Given the description of an element on the screen output the (x, y) to click on. 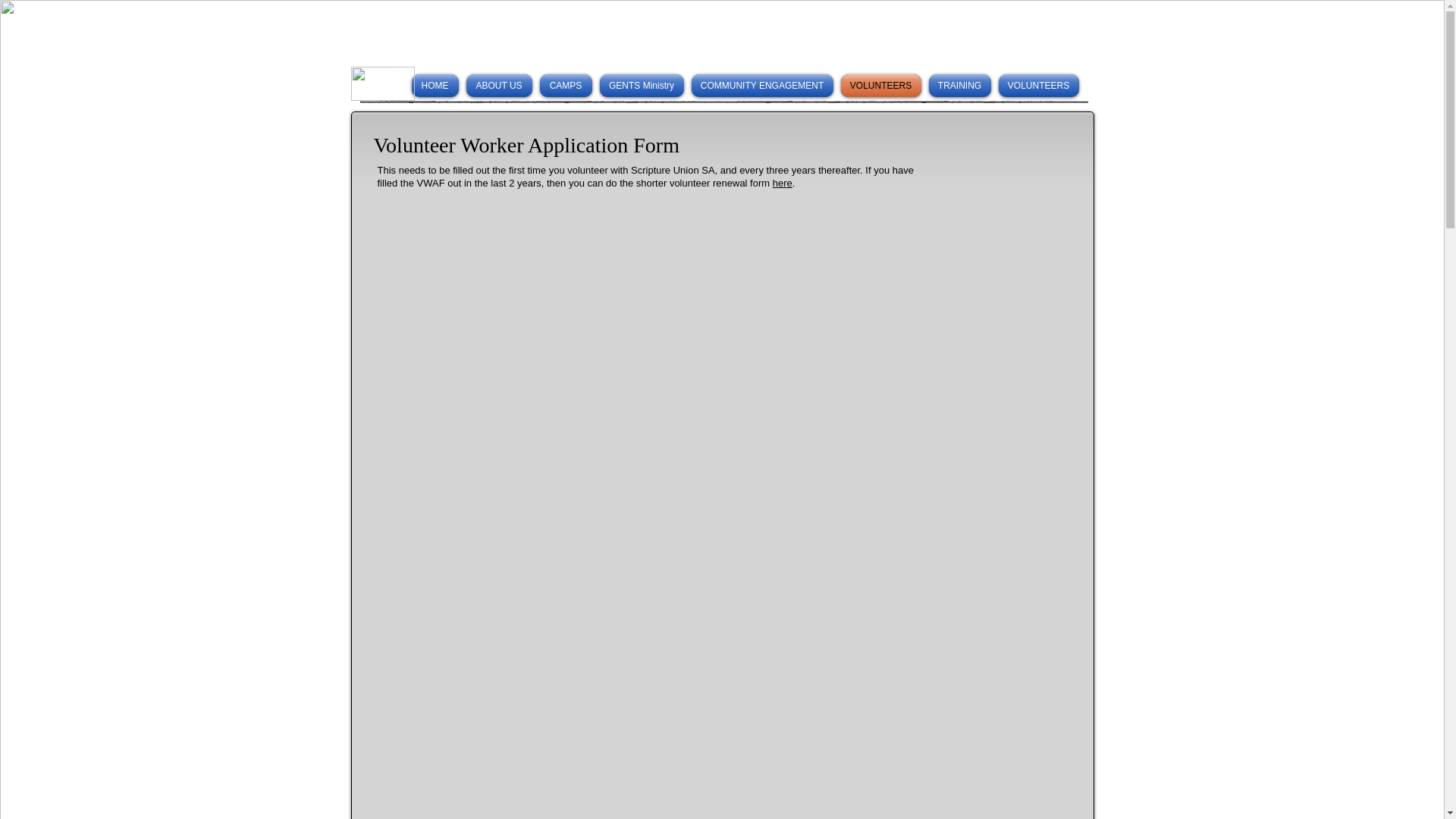
COMMUNITY ENGAGEMENT (761, 85)
TRAINING (959, 85)
Webmaster Login (864, 54)
CAMPS (565, 85)
GENTS Ministry (641, 85)
here (782, 183)
HOME (435, 85)
Wireless signal final with glow small.gif (381, 83)
ABOUT US (499, 85)
VOLUNTEERS (880, 85)
